Given the description of an element on the screen output the (x, y) to click on. 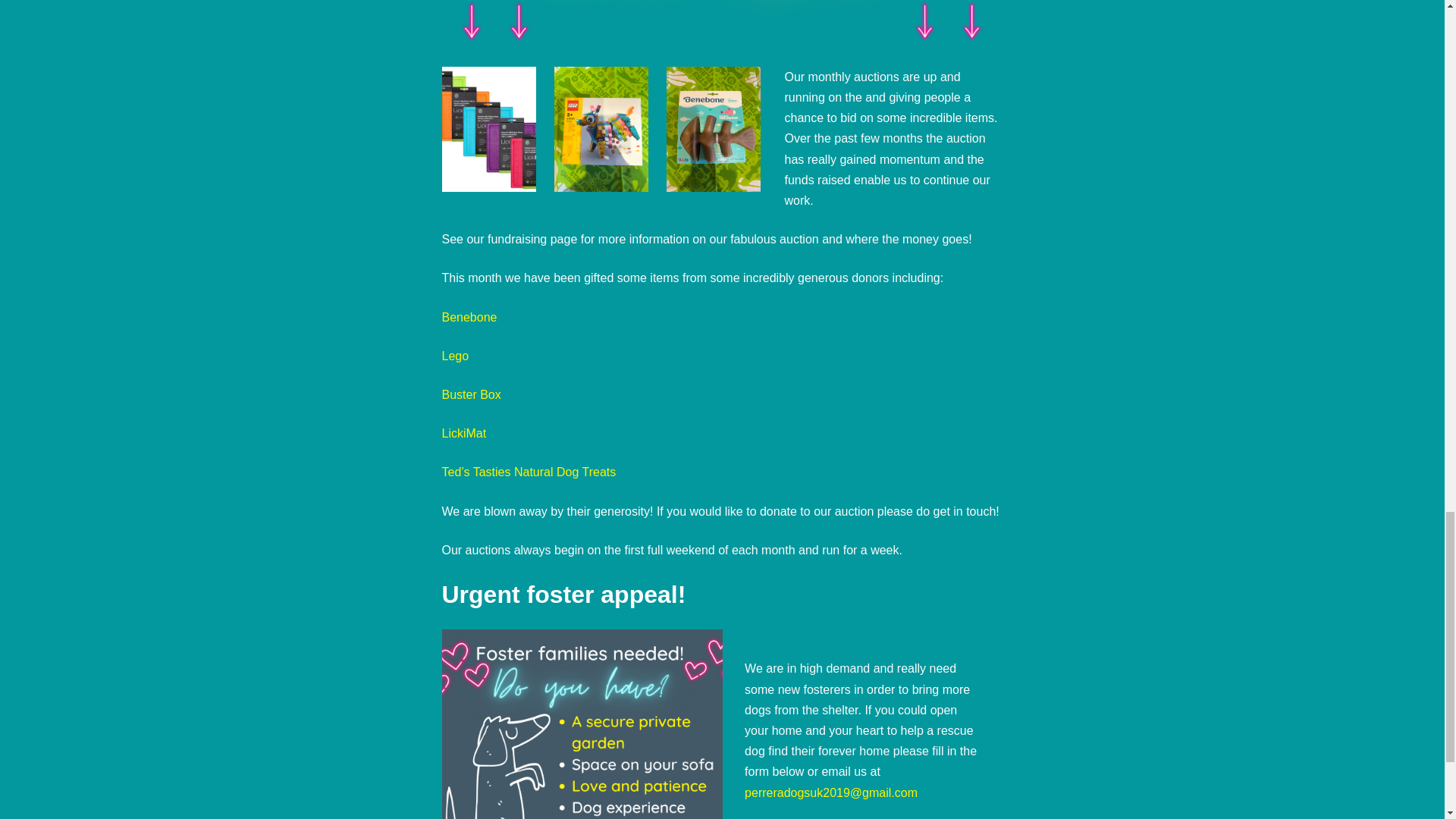
Buster Box (470, 394)
Benebone (468, 317)
Lego (454, 355)
LickiMat (463, 432)
